Given the description of an element on the screen output the (x, y) to click on. 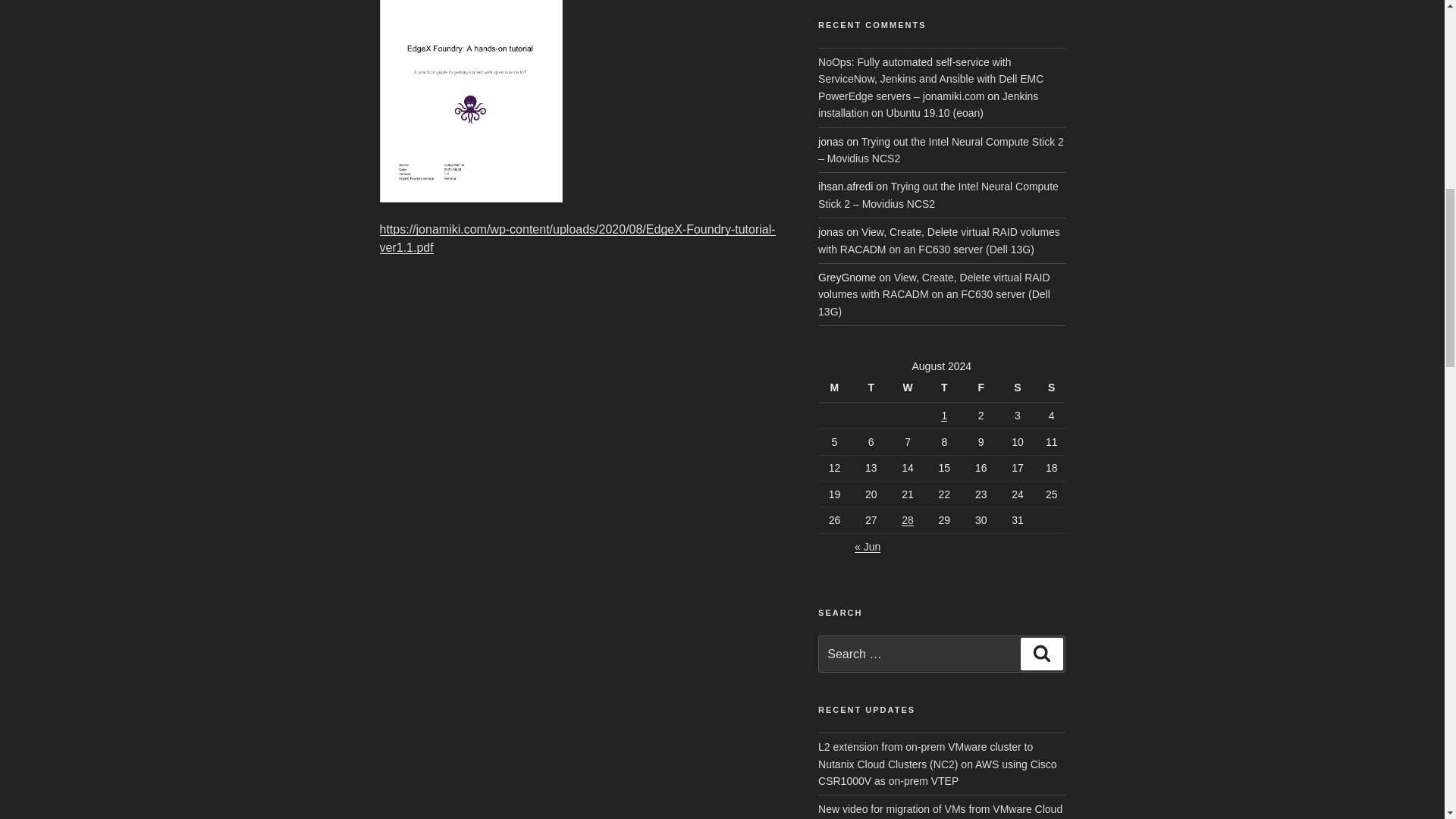
Sunday (1051, 388)
Friday (982, 388)
Thursday (945, 388)
Wednesday (909, 388)
Monday (836, 388)
Tuesday (872, 388)
Saturday (1019, 388)
